Given the description of an element on the screen output the (x, y) to click on. 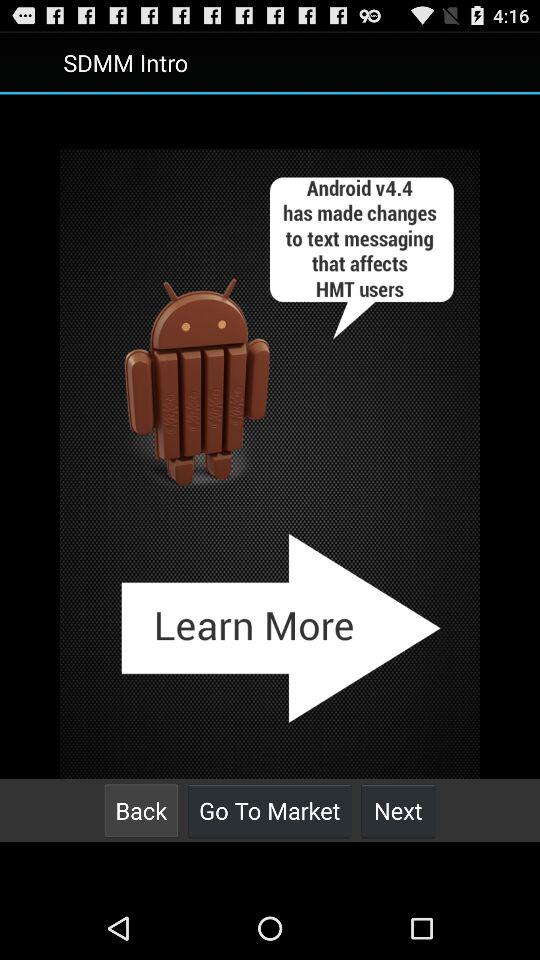
click the button to the right of go to market icon (398, 810)
